Given the description of an element on the screen output the (x, y) to click on. 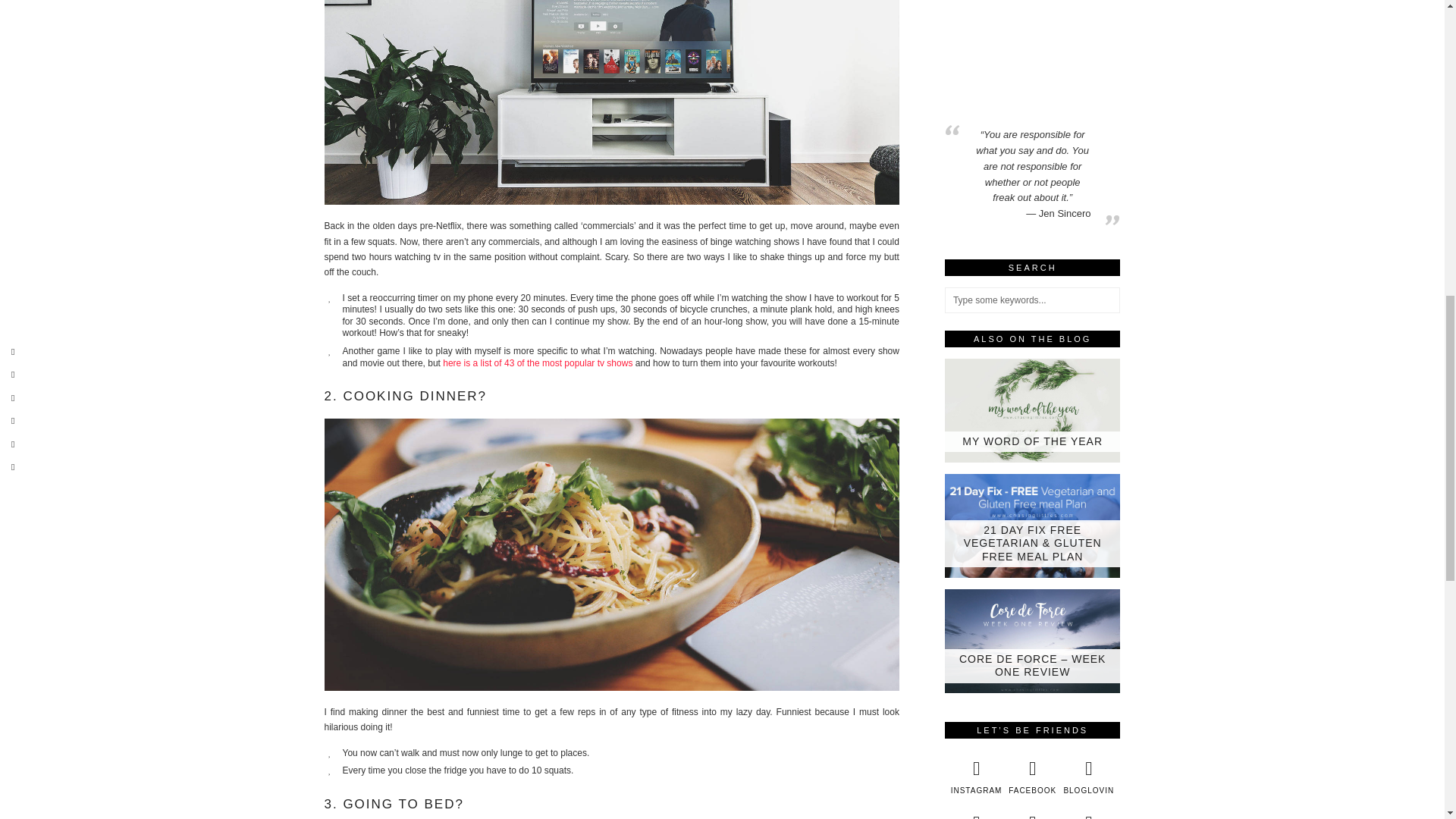
here is a list of 43 of the most popular tv shows (536, 362)
